Given the description of an element on the screen output the (x, y) to click on. 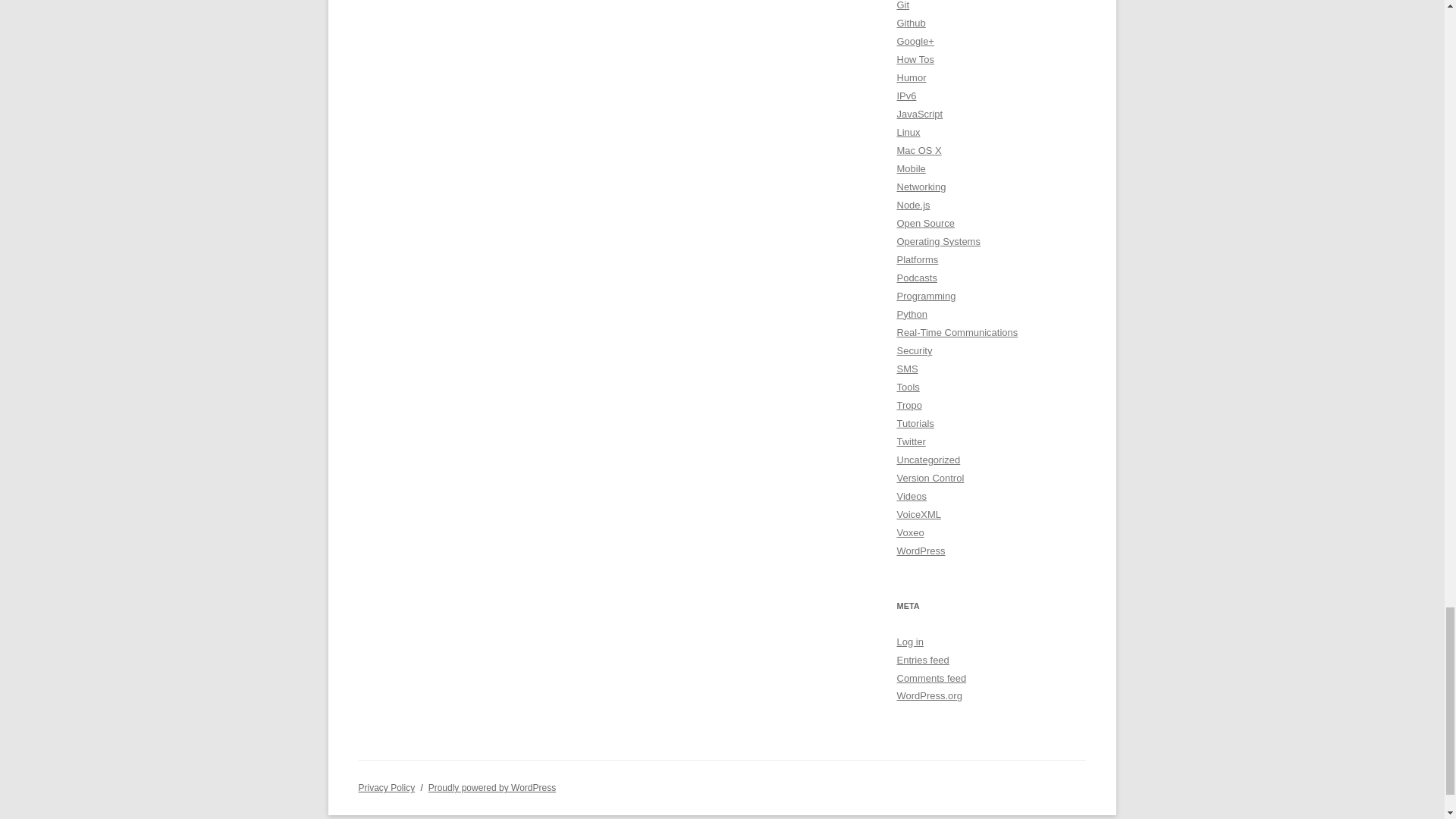
Semantic Personal Publishing Platform (492, 787)
